Given the description of an element on the screen output the (x, y) to click on. 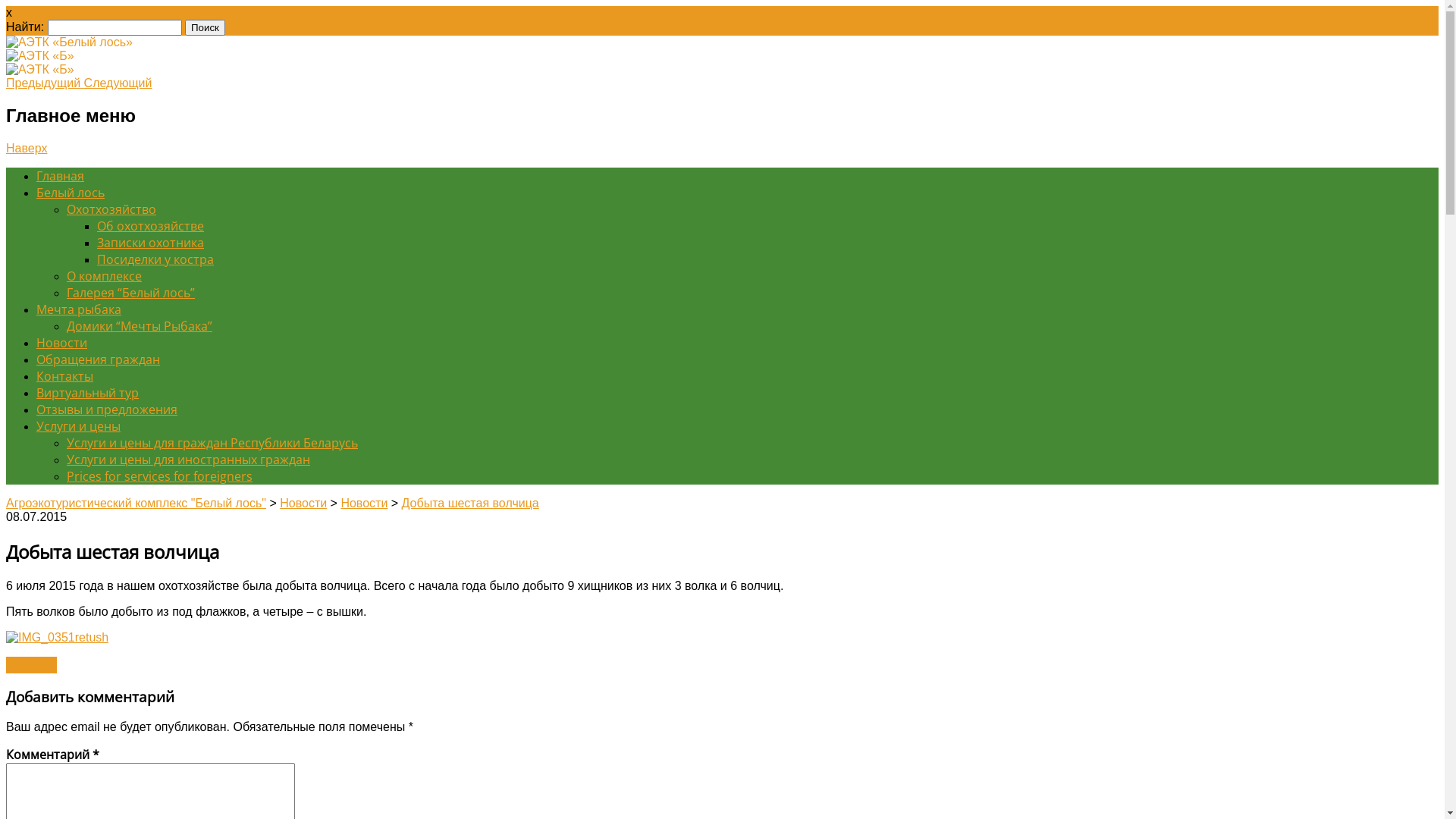
Prices for services for foreigners Element type: text (159, 475)
